Given the description of an element on the screen output the (x, y) to click on. 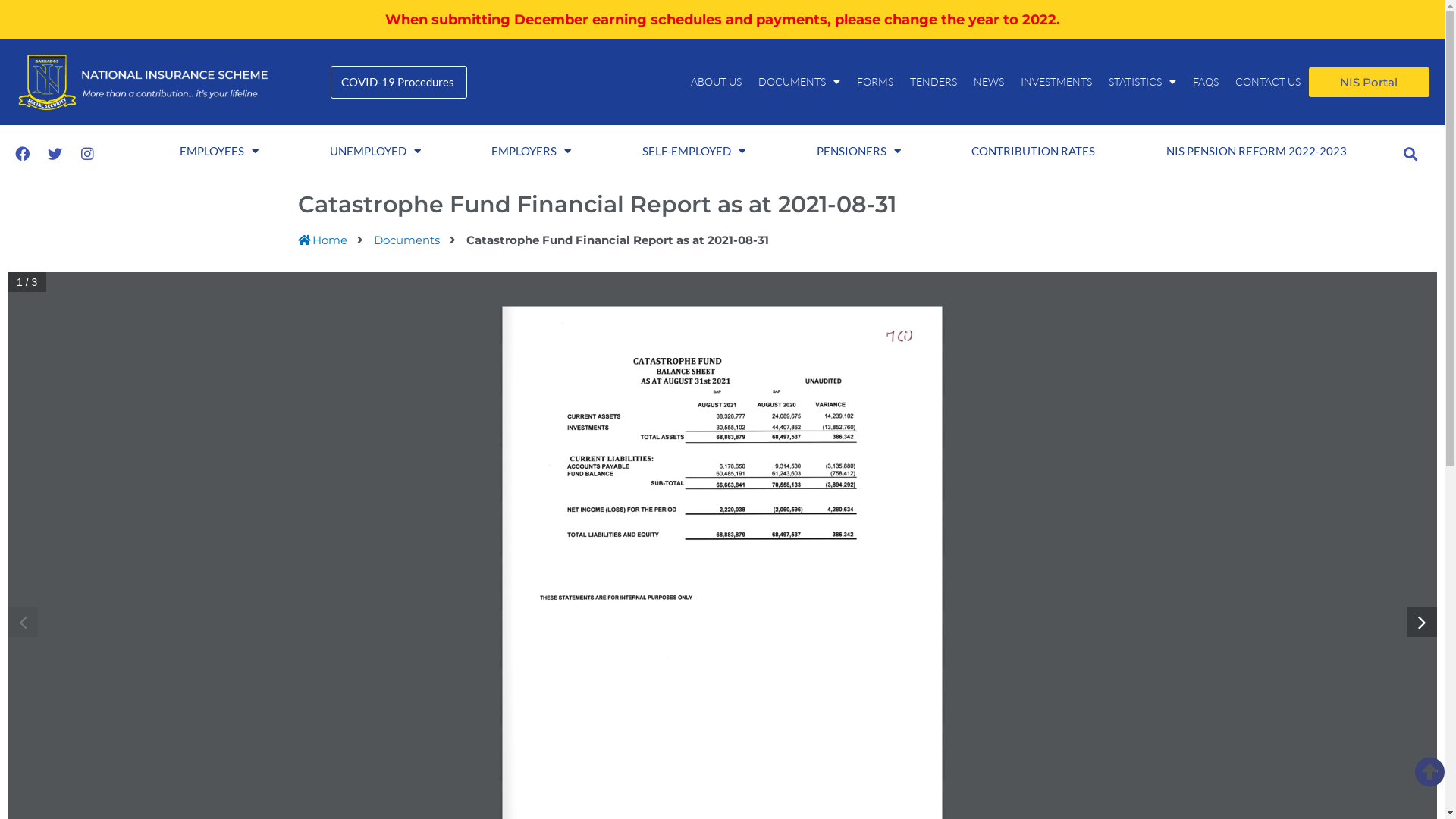
CONTRIBUTION RATES Element type: text (1032, 150)
EMPLOYERS Element type: text (531, 150)
EMPLOYEES Element type: text (219, 150)
ABOUT US Element type: text (715, 81)
TENDERS Element type: text (933, 81)
PENSIONERS Element type: text (858, 150)
Facebook Element type: text (21, 153)
FAQS Element type: text (1205, 81)
STATISTICS Element type: text (1142, 81)
Documents Element type: text (406, 240)
SELF-EMPLOYED Element type: text (693, 150)
DOCUMENTS Element type: text (798, 81)
COVID-19 Procedures Element type: text (398, 81)
FORMS Element type: text (874, 81)
INVESTMENTS Element type: text (1056, 81)
NIS Portal Element type: text (1368, 82)
UNEMPLOYED Element type: text (375, 150)
Twitter Element type: text (54, 153)
Instagram Element type: text (86, 153)
NEWS Element type: text (988, 81)
CONTACT US Element type: text (1267, 81)
Home Element type: text (321, 240)
NIS PENSION REFORM 2022-2023 Element type: text (1256, 150)
